Given the description of an element on the screen output the (x, y) to click on. 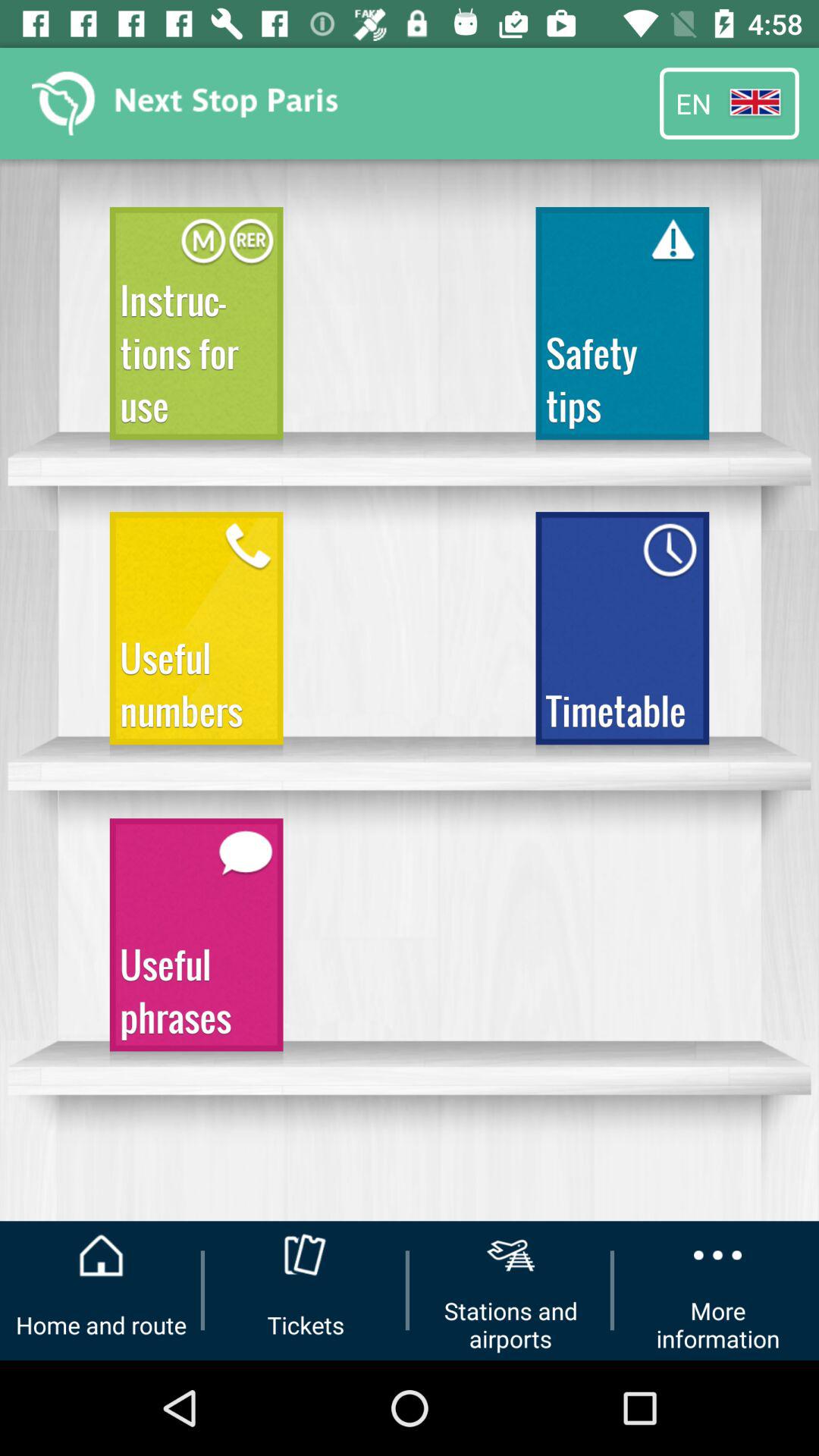
flip to the useful phrases (196, 941)
